Given the description of an element on the screen output the (x, y) to click on. 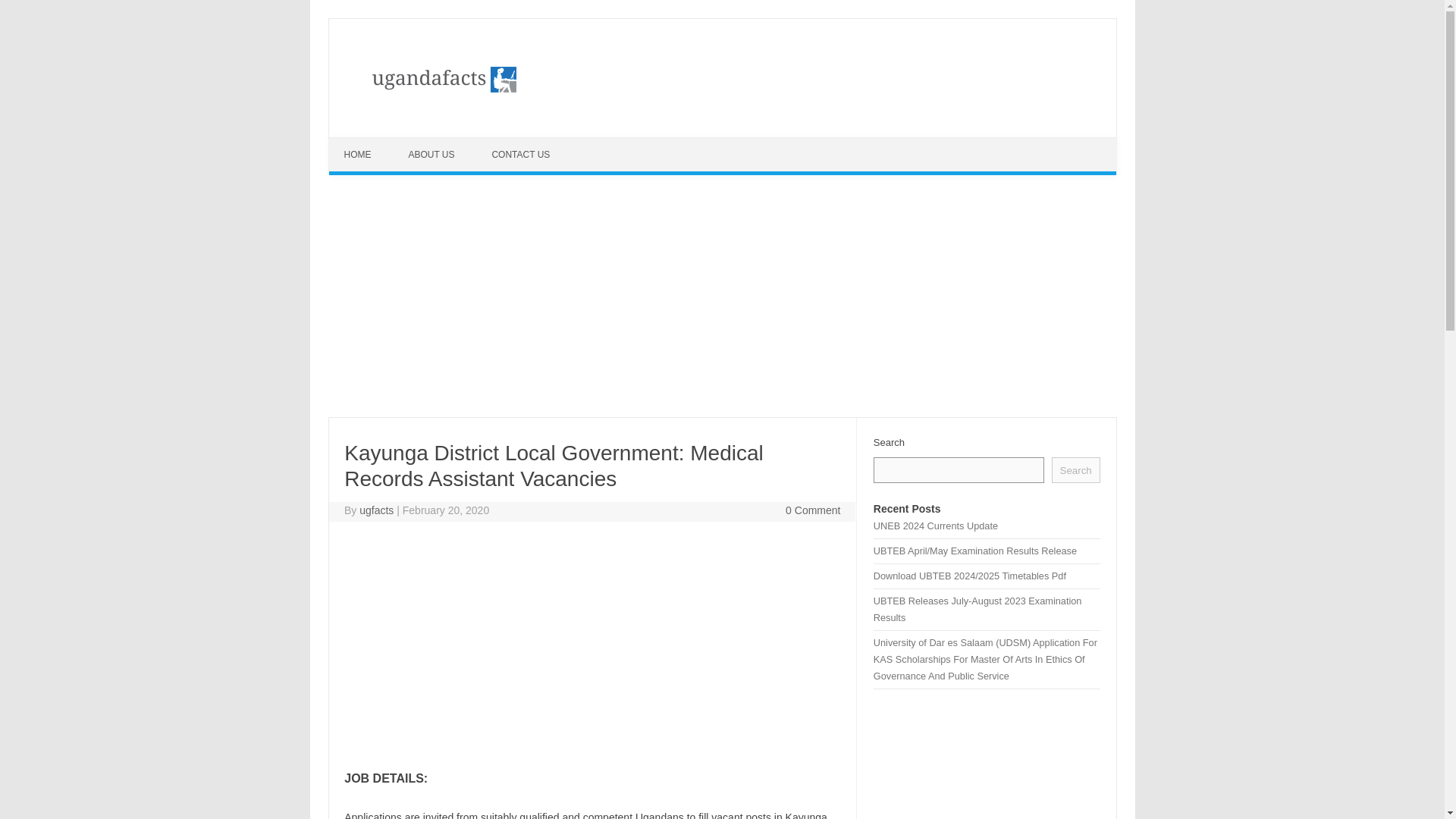
Posts by ugfacts (376, 510)
ugfacts (376, 510)
Search (1075, 470)
HOME (359, 154)
UNEB 2024 Currents Update (935, 525)
CONTACT US (522, 154)
UBTEB Releases July-August 2023 Examination Results (977, 609)
0 Comment (813, 510)
Skip to content (363, 142)
Skip to content (363, 142)
